Given the description of an element on the screen output the (x, y) to click on. 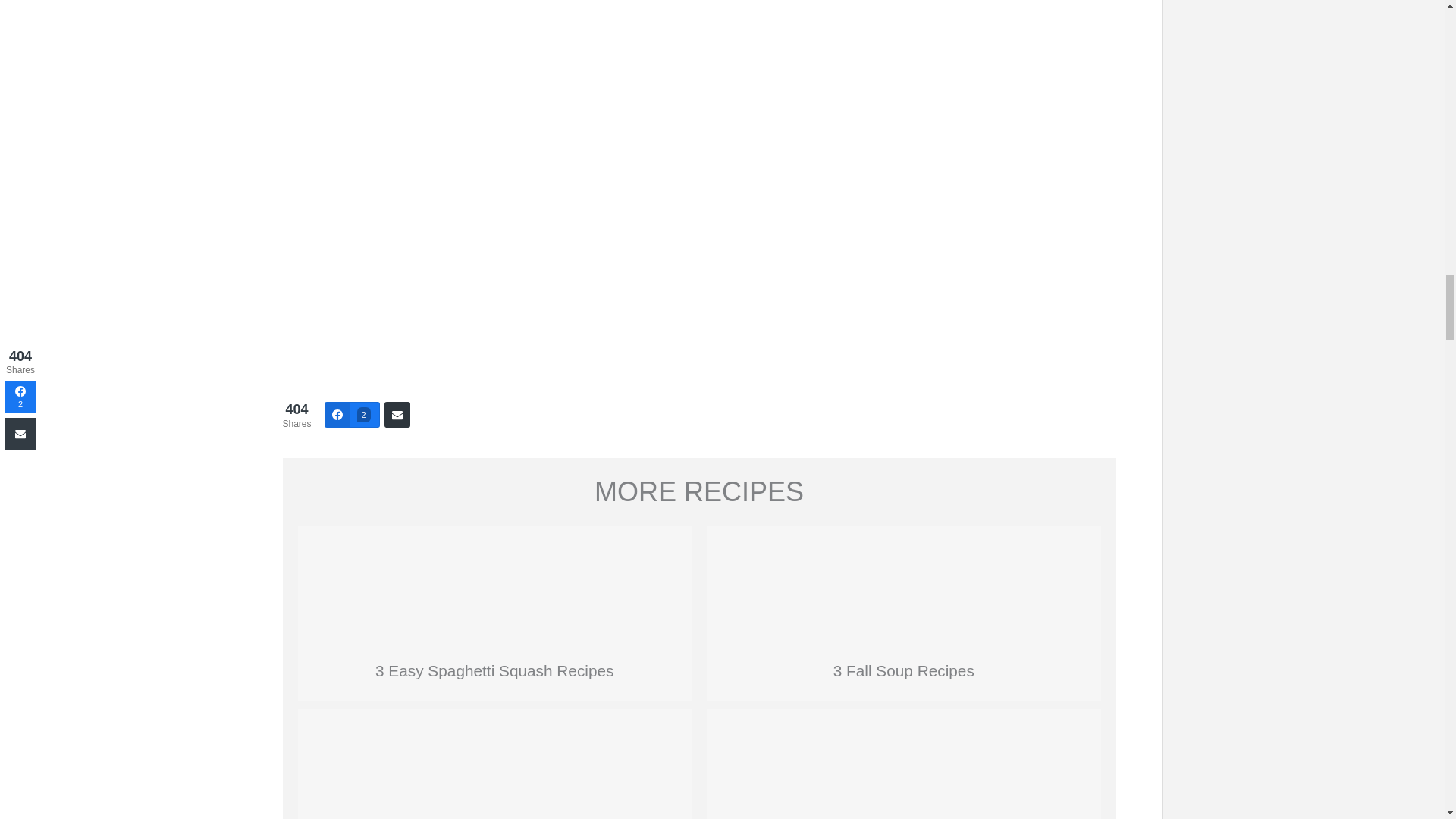
3 Fall Soup Recipes (903, 670)
3 Easy Spaghetti Squash Recipes (493, 670)
3 Ways To Cook The Ultimate Chicken Breast (494, 765)
3 Easy Spaghetti Squash Recipes (494, 581)
5 Easy Weight Loss Meal Prep Recipes (903, 765)
3 Fall Soup Recipes (903, 581)
